Given the description of an element on the screen output the (x, y) to click on. 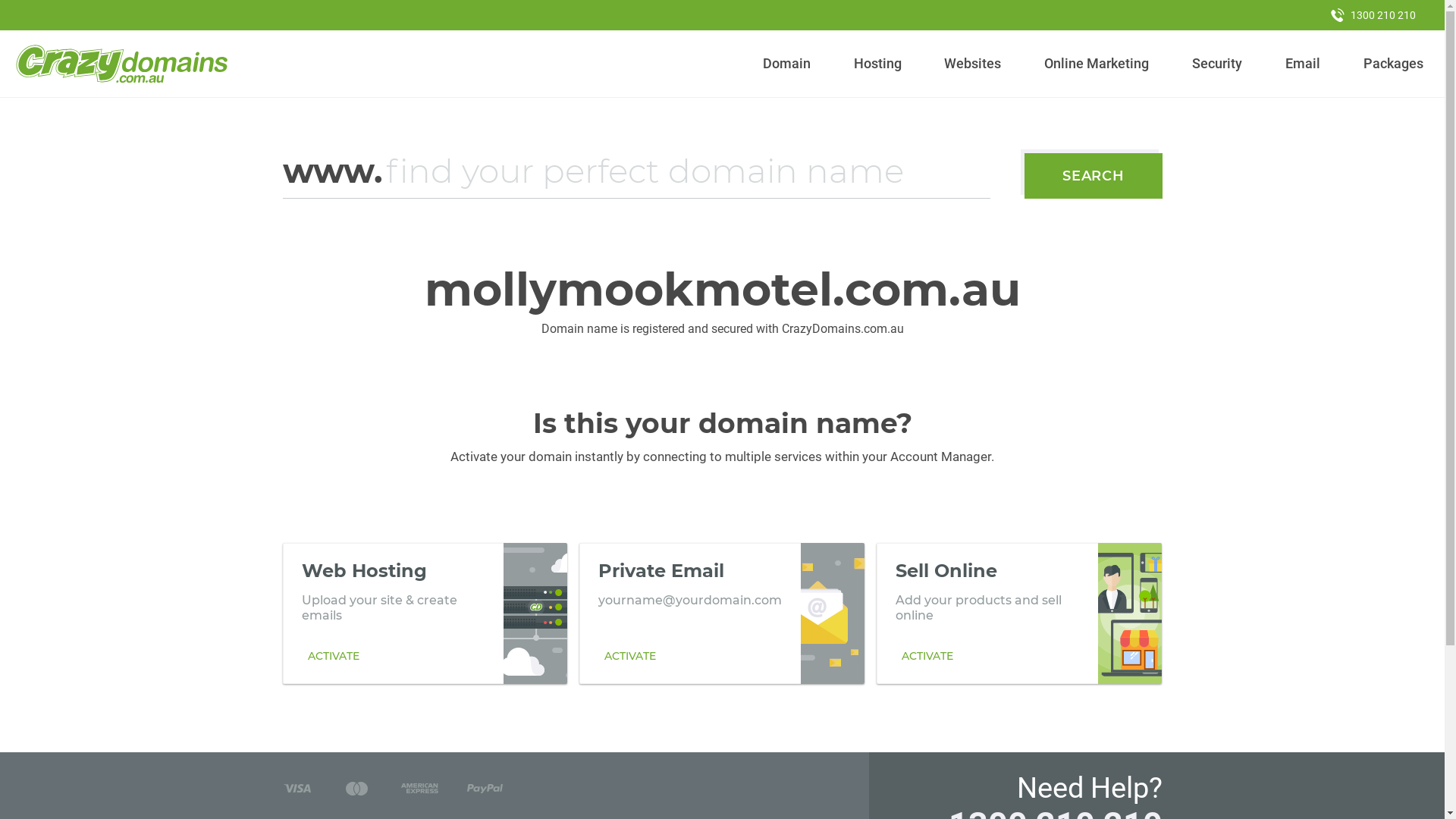
Private Email
yourname@yourdomain.com
ACTIVATE Element type: text (721, 613)
Packages Element type: text (1392, 63)
Domain Element type: text (786, 63)
Security Element type: text (1217, 63)
Hosting Element type: text (877, 63)
1300 210 210 Element type: text (1373, 15)
Email Element type: text (1302, 63)
Sell Online
Add your products and sell online
ACTIVATE Element type: text (1018, 613)
SEARCH Element type: text (1092, 175)
Online Marketing Element type: text (1096, 63)
Websites Element type: text (972, 63)
Web Hosting
Upload your site & create emails
ACTIVATE Element type: text (424, 613)
